Given the description of an element on the screen output the (x, y) to click on. 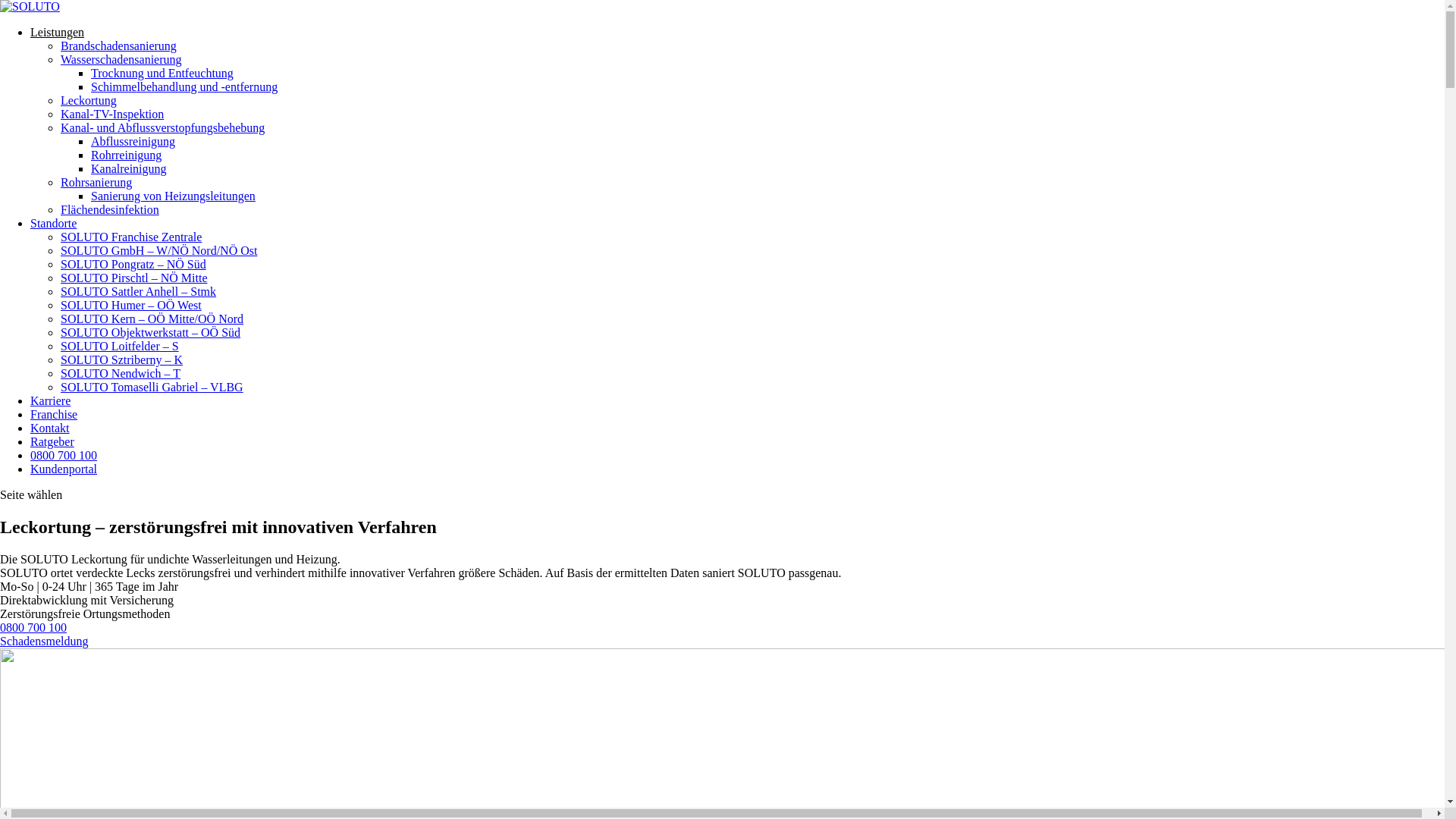
0800 700 100 Element type: text (63, 454)
Abflussreinigung Element type: text (133, 140)
Kanalreinigung Element type: text (128, 168)
Leckortung Element type: text (88, 100)
Kontakt Element type: text (49, 427)
Brandschadensanierung Element type: text (118, 45)
Schimmelbehandlung und -entfernung Element type: text (184, 86)
Franchise Element type: text (53, 413)
Standorte Element type: text (53, 222)
Trocknung und Entfeuchtung Element type: text (162, 72)
Karriere Element type: text (50, 400)
Kanal- und Abflussverstopfungsbehebung Element type: text (162, 127)
Kanal-TV-Inspektion Element type: text (111, 113)
Rohrreinigung Element type: text (126, 154)
0800 700 100 Element type: text (33, 627)
Kundenportal Element type: text (63, 468)
Rohrsanierung Element type: text (95, 181)
Schadensmeldung Element type: text (43, 640)
Wasserschadensanierung Element type: text (121, 59)
Leistungen Element type: text (57, 31)
Ratgeber Element type: text (52, 441)
Sanierung von Heizungsleitungen Element type: text (173, 195)
SOLUTO Franchise Zentrale Element type: text (130, 236)
